Given the description of an element on the screen output the (x, y) to click on. 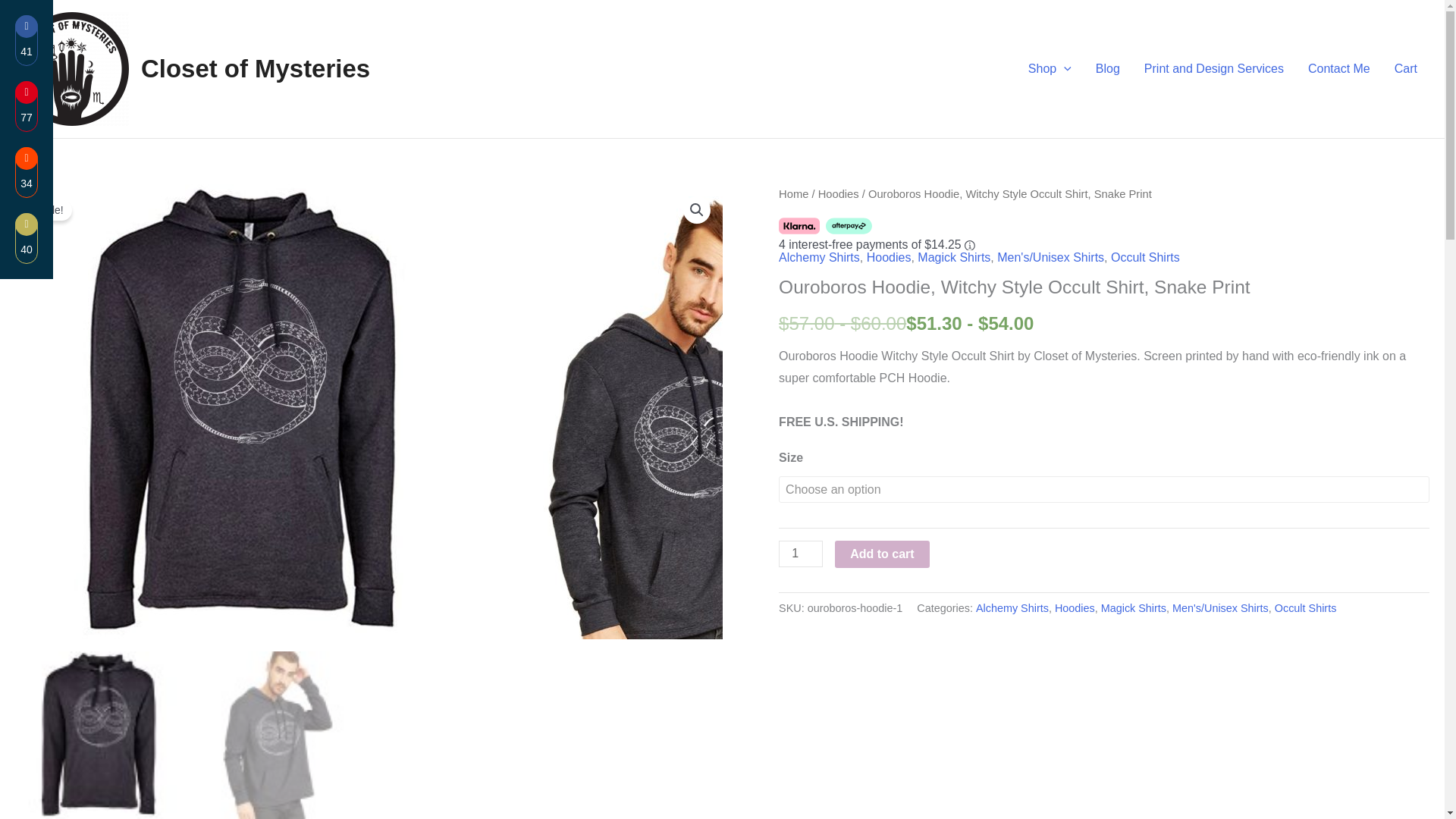
Blog (1107, 68)
Closet of Mysteries (255, 68)
Payment method messaging (1101, 233)
Print and Design Services (1213, 68)
1 (800, 553)
Contact Me (1338, 68)
Shop (1049, 68)
Cart (1405, 68)
